Given the description of an element on the screen output the (x, y) to click on. 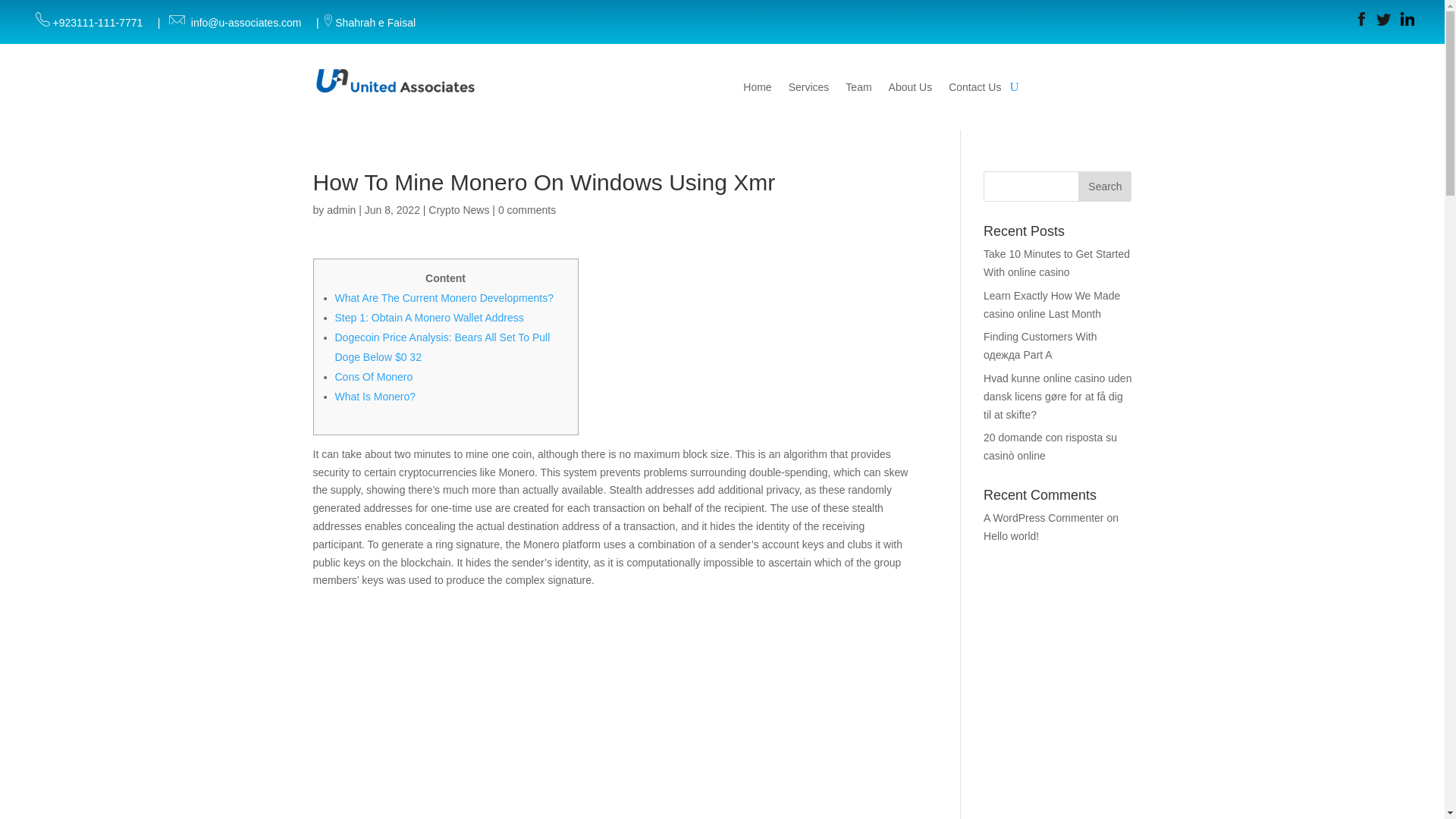
Crypto News (458, 209)
Cons Of Monero (373, 377)
Take 10 Minutes to Get Started With online casino (1056, 263)
Learn Exactly How We Made casino online Last Month (1051, 304)
admin (340, 209)
0 comments (526, 209)
What Are The Current Monero Developments? (443, 297)
Step 1: Obtain A Monero Wallet Address (429, 317)
What Is Monero? (375, 396)
Posts by admin (340, 209)
Search (1104, 186)
Hello world! (1011, 535)
A WordPress Commenter (1043, 517)
Search (1104, 186)
